Given the description of an element on the screen output the (x, y) to click on. 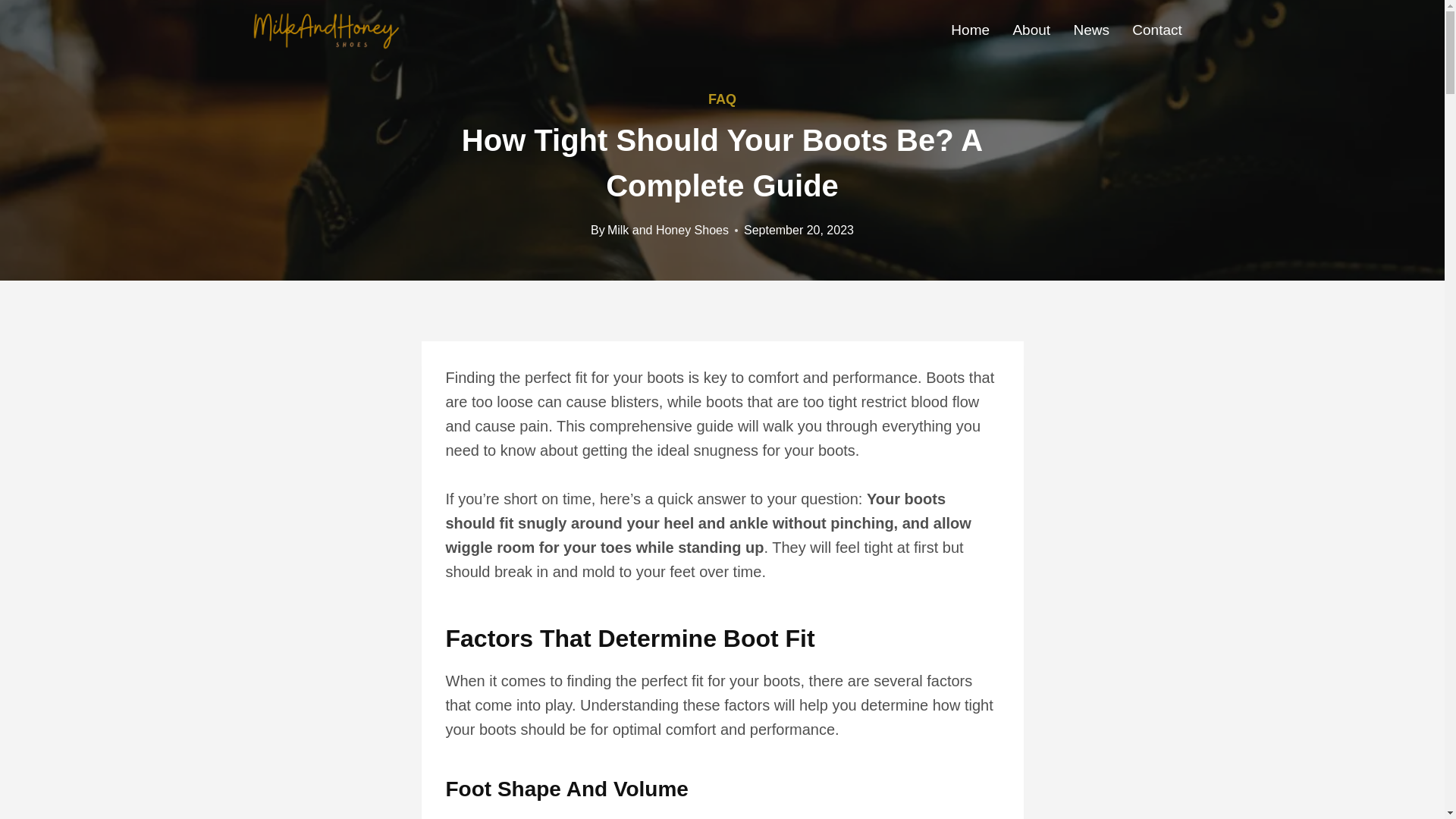
FAQ (721, 99)
Home (970, 29)
About (1031, 29)
Contact (1157, 29)
Milk and Honey Shoes (668, 229)
News (1091, 29)
